Given the description of an element on the screen output the (x, y) to click on. 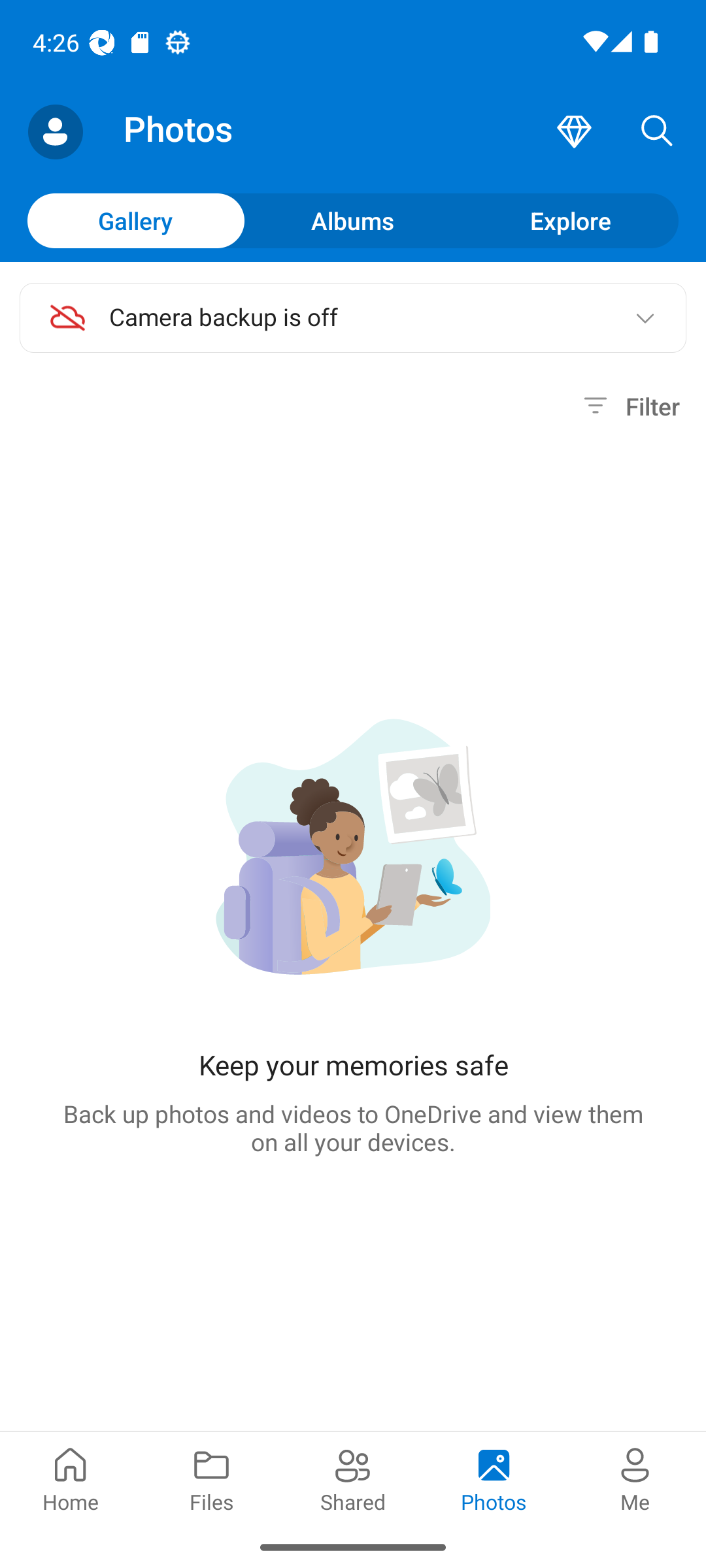
Account switcher (55, 131)
Premium button (574, 131)
Search button (656, 131)
Albums (352, 219)
Explore (569, 219)
Expand camera status banner (645, 318)
Filter (628, 405)
Home pivot Home (70, 1478)
Files pivot Files (211, 1478)
Shared pivot Shared (352, 1478)
Me pivot Me (635, 1478)
